Given the description of an element on the screen output the (x, y) to click on. 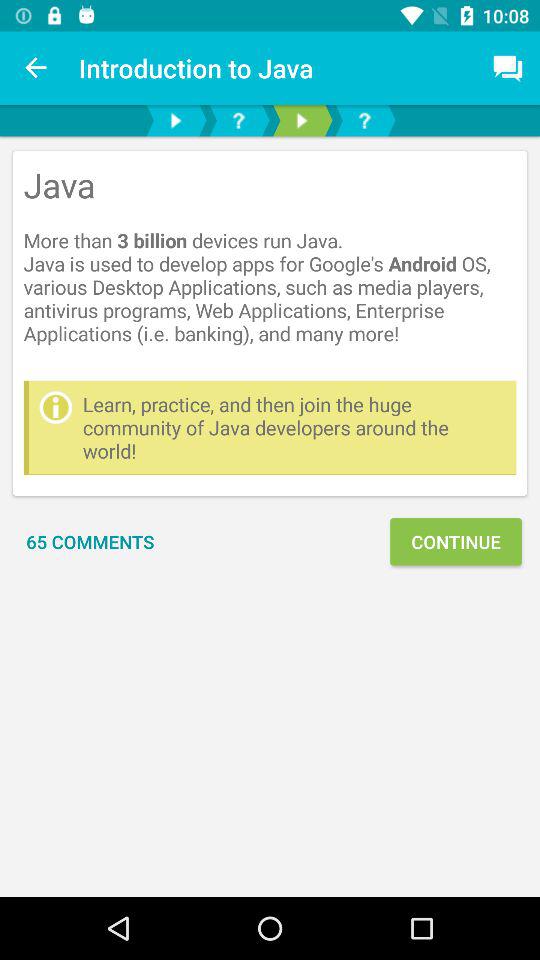
jump to the continue icon (455, 541)
